Given the description of an element on the screen output the (x, y) to click on. 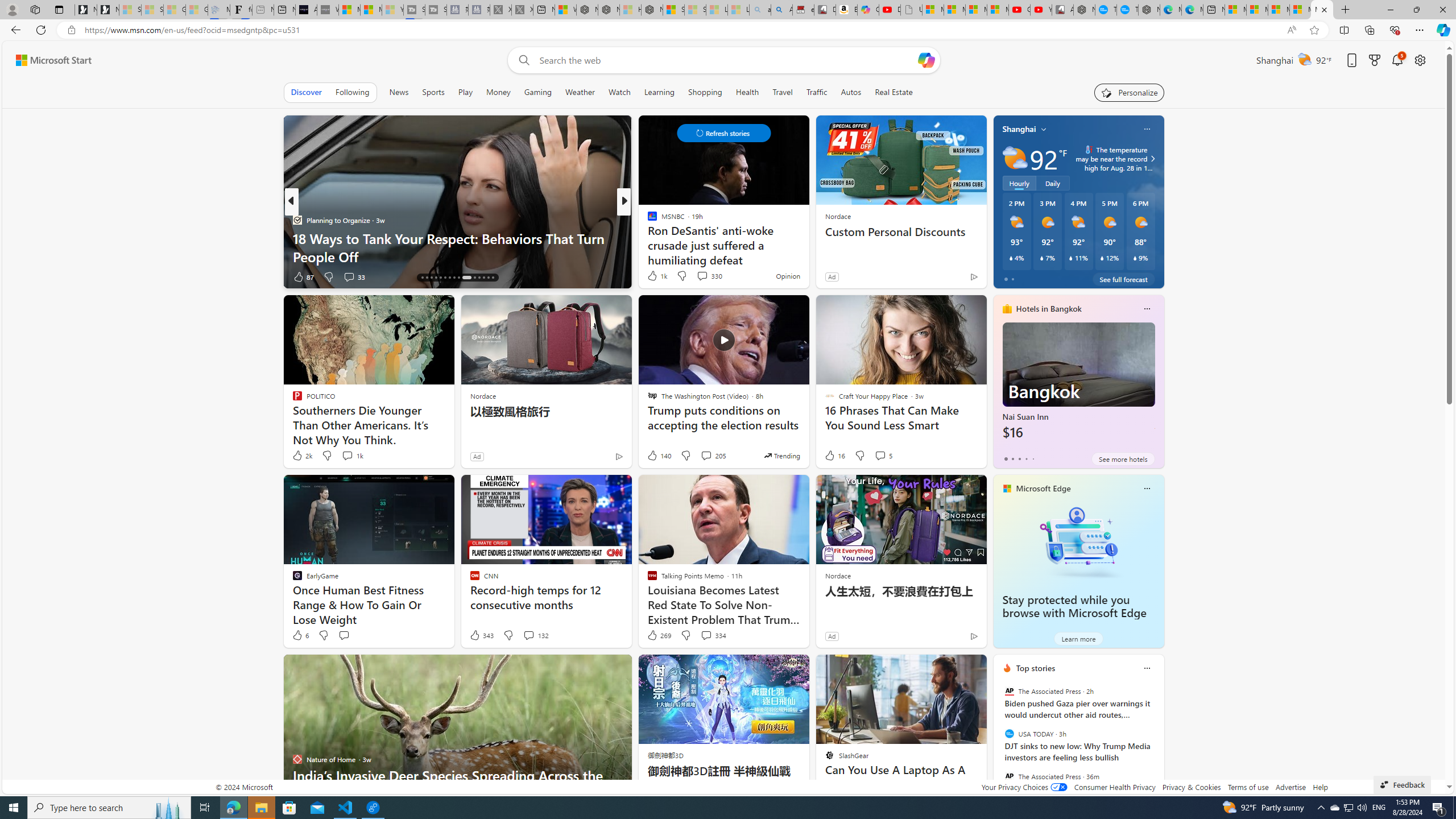
My location (1043, 128)
Health (746, 92)
Play (465, 92)
View comments 1 Comment (698, 276)
View comments 1k Comment (346, 455)
tab-4 (1032, 458)
Class: weather-arrow-glyph (1152, 158)
2k Like (301, 455)
Notifications (1397, 60)
